Given the description of an element on the screen output the (x, y) to click on. 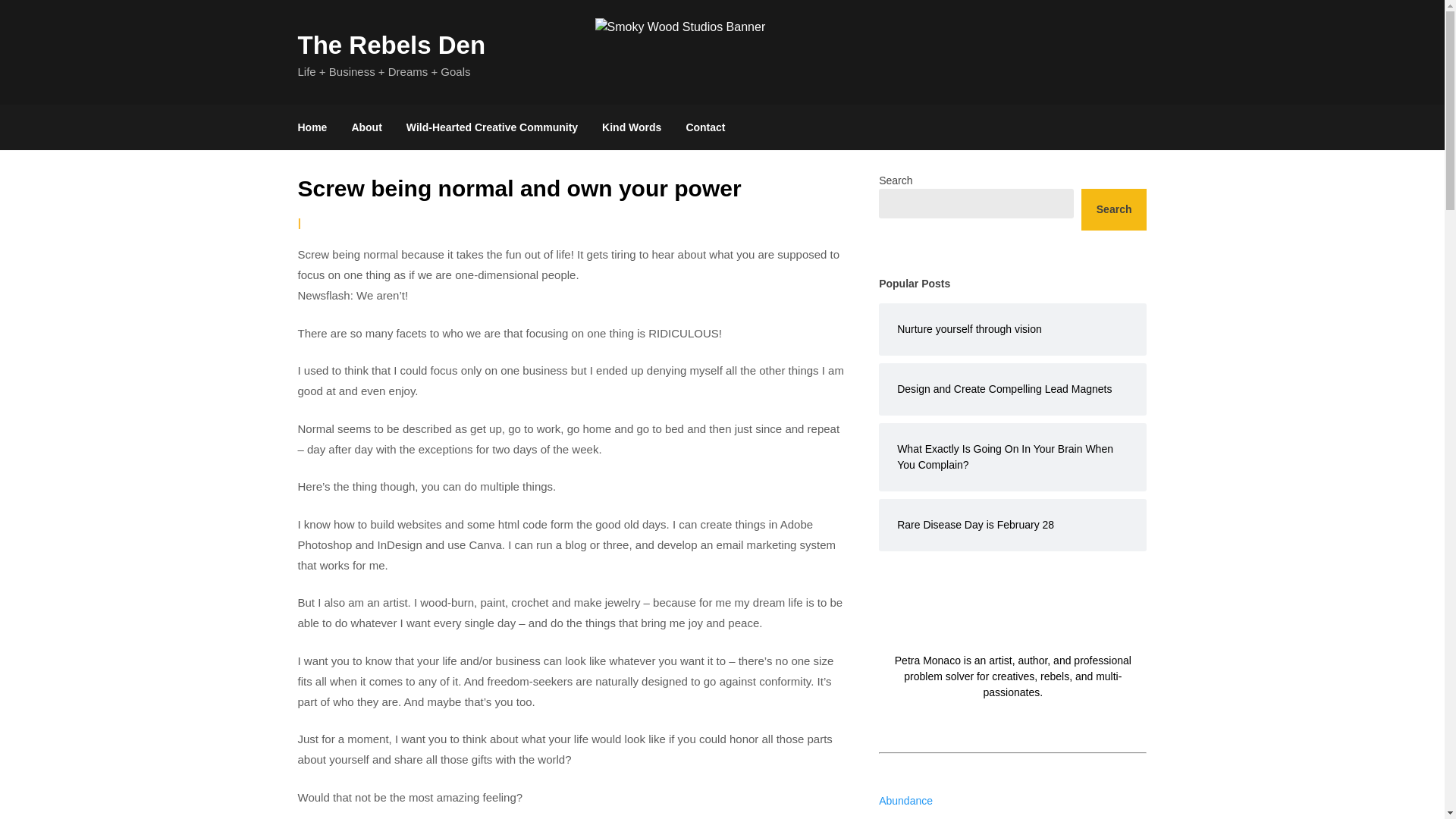
Design and Create Compelling Lead Magnets (1012, 389)
About (366, 126)
Home (318, 126)
Contact (704, 126)
Wild-Hearted Creative Community (491, 126)
Kind Words (630, 126)
The Rebels Den (390, 44)
Nurture yourself through vision (1012, 329)
Search (1114, 209)
Abundance (906, 800)
What Exactly Is Going On In Your Brain When You Complain? (1012, 457)
Rare Disease Day is February 28 (1012, 524)
